Given the description of an element on the screen output the (x, y) to click on. 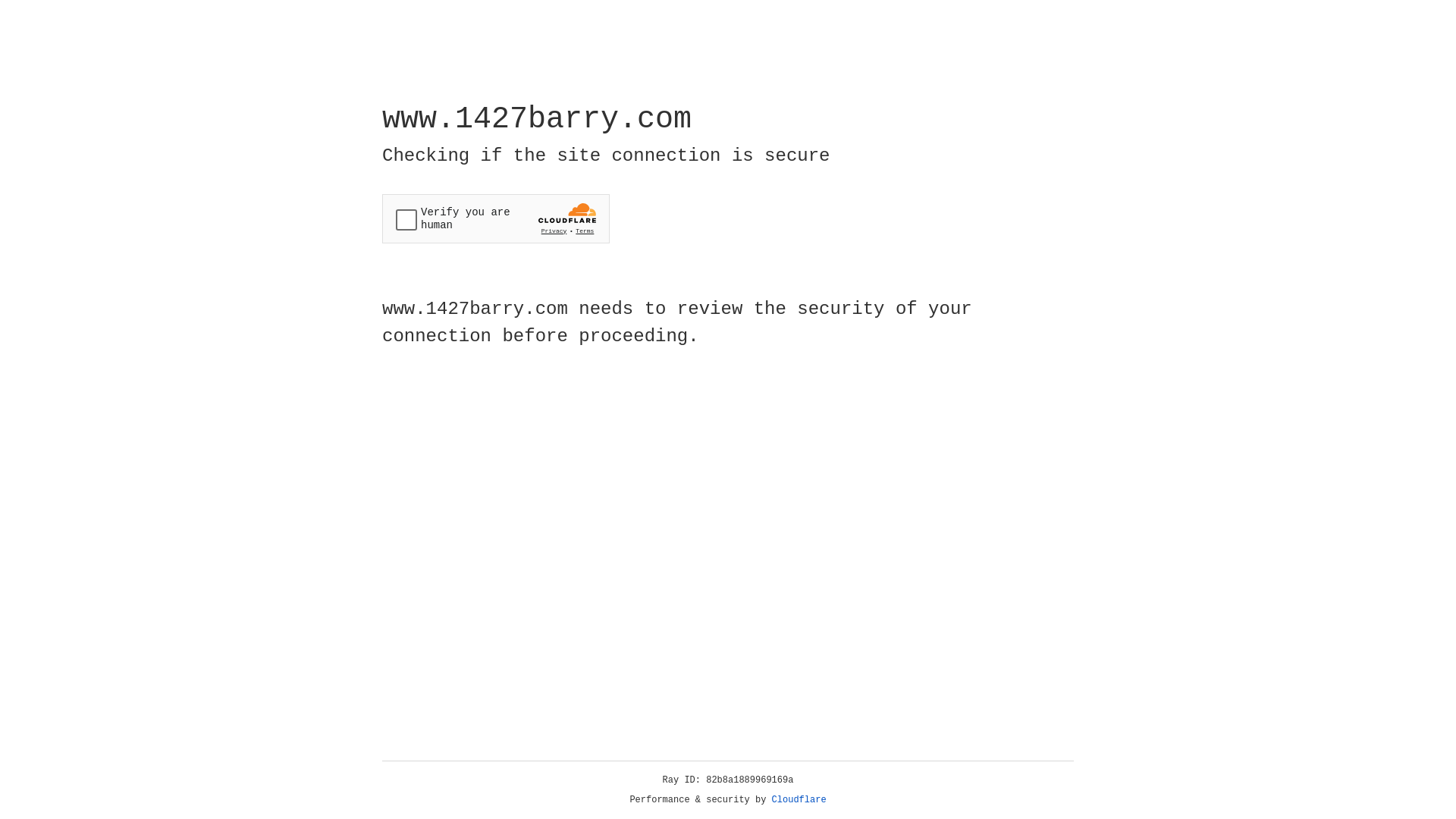
Widget containing a Cloudflare security challenge Element type: hover (495, 218)
Cloudflare Element type: text (798, 799)
